Given the description of an element on the screen output the (x, y) to click on. 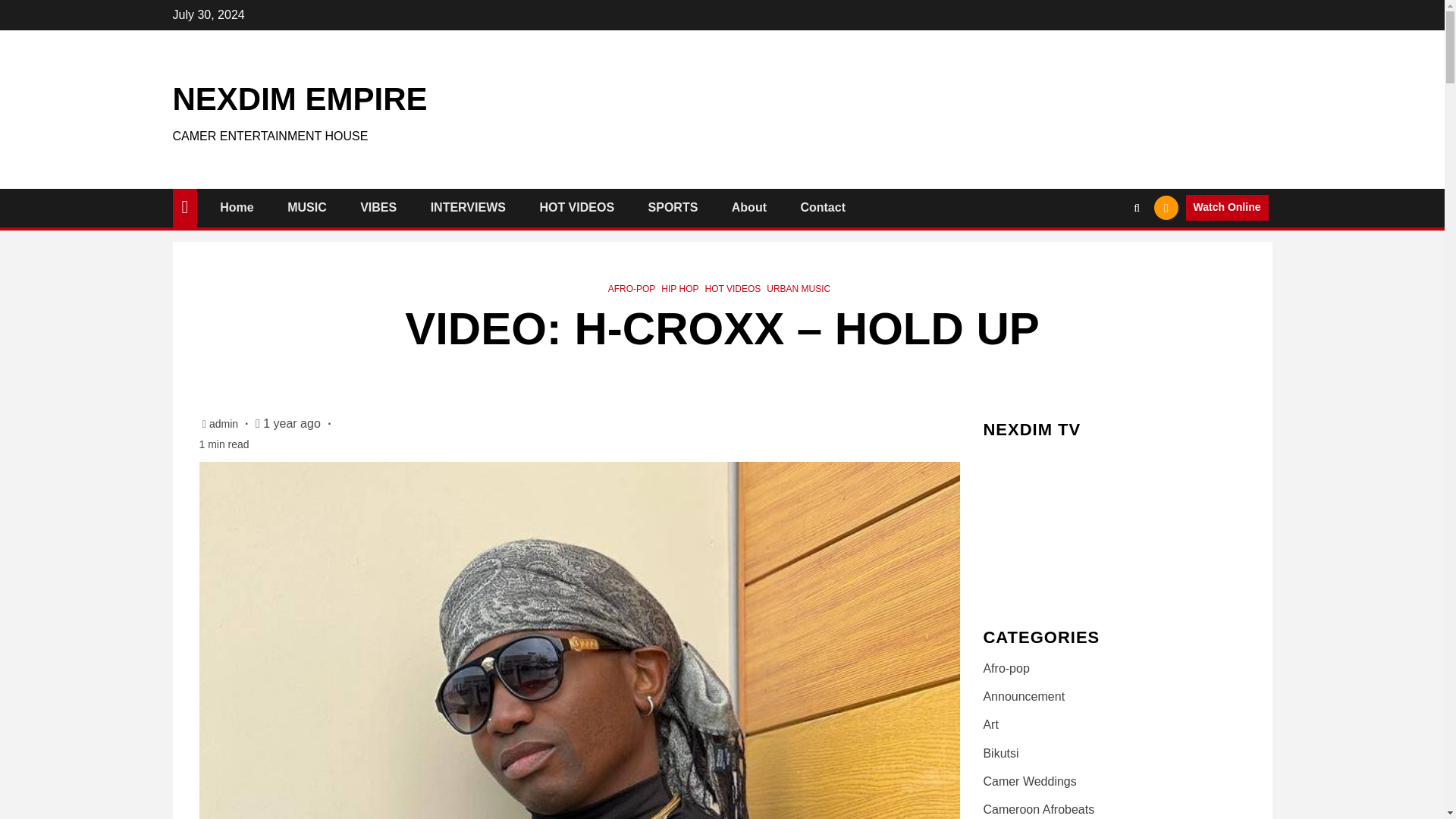
Watch Online (1227, 207)
VIBES (377, 206)
Contact (822, 206)
MUSIC (306, 206)
URBAN MUSIC (798, 288)
admin (225, 423)
Search (1106, 253)
HIP HOP (679, 288)
Home (236, 206)
HOT VIDEOS (576, 206)
About (749, 206)
INTERVIEWS (467, 206)
HOT VIDEOS (732, 288)
NEXDIM EMPIRE (300, 99)
SPORTS (672, 206)
